Given the description of an element on the screen output the (x, y) to click on. 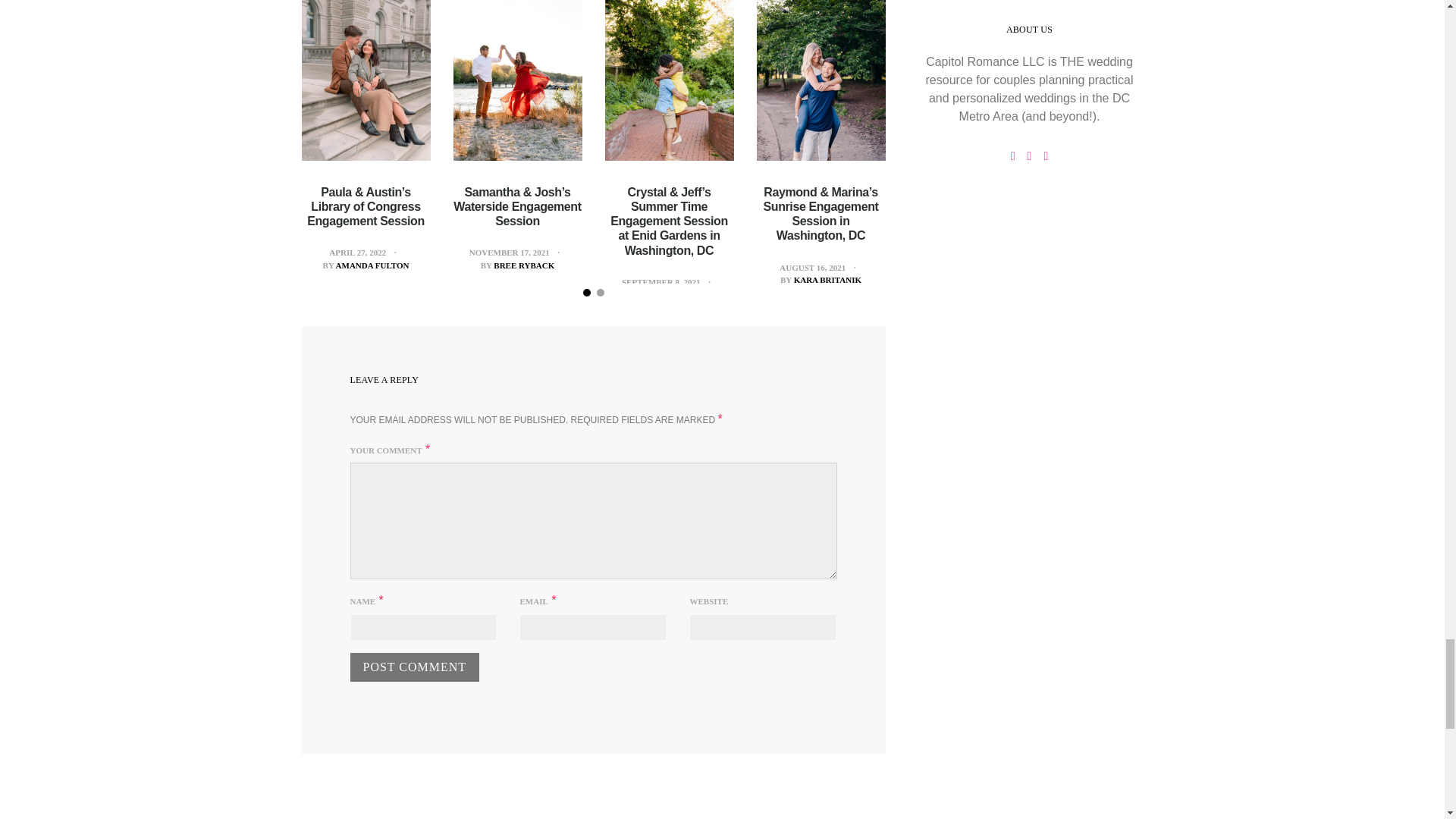
Posts by Amanda Fulton (372, 265)
Posts by Kara Britanik (827, 279)
Posts by Bree Ryback (523, 265)
Post Comment (415, 666)
